Given the description of an element on the screen output the (x, y) to click on. 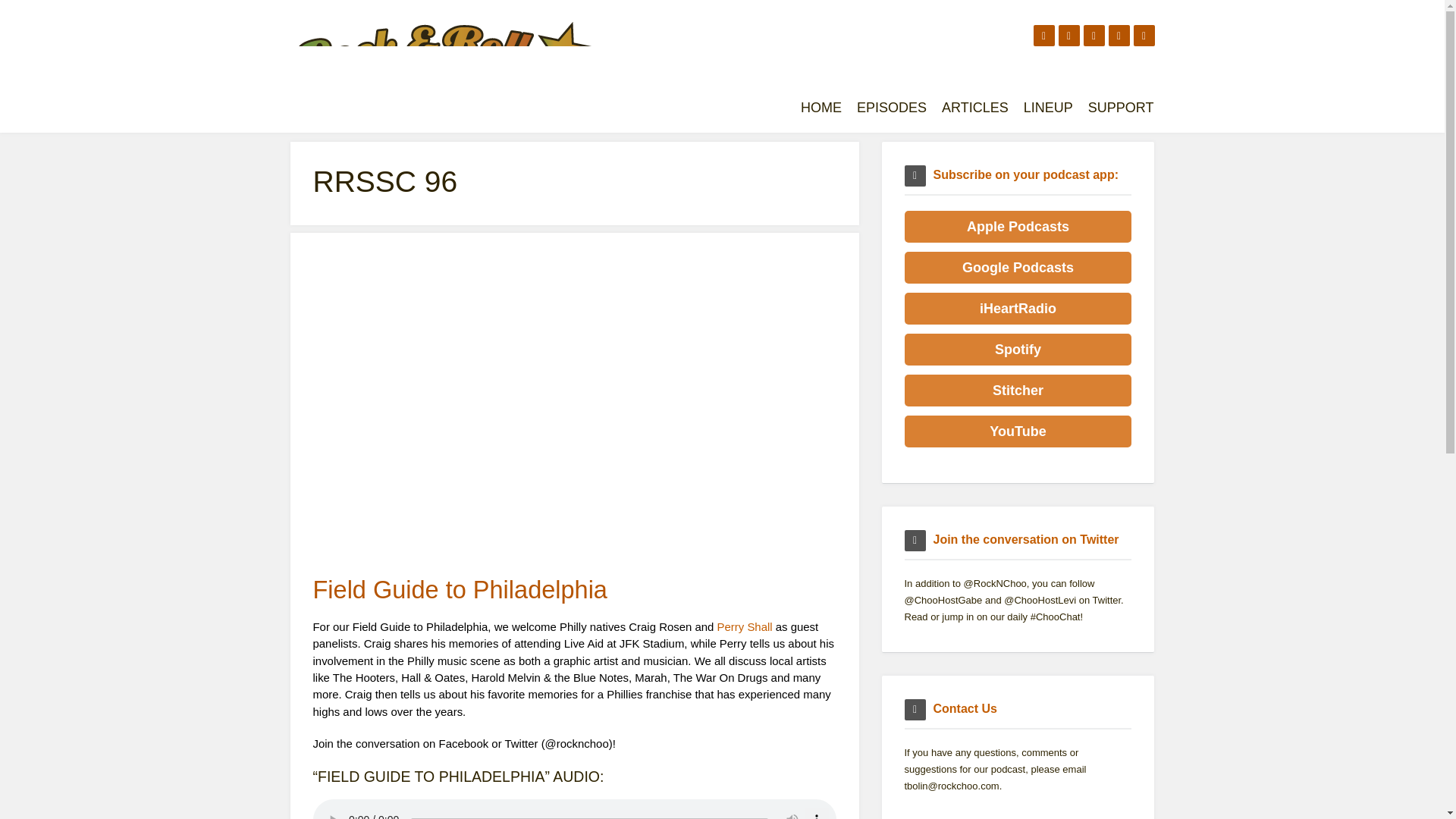
Perry Shall (745, 626)
LINEUP (1048, 107)
Apple Podcasts (1017, 226)
Spotify (1017, 349)
YouTube (1017, 431)
iHeartRadio (1017, 308)
Stitcher (1017, 390)
ARTICLES (975, 107)
Google Podcasts (1017, 267)
EPISODES (891, 107)
